Given the description of an element on the screen output the (x, y) to click on. 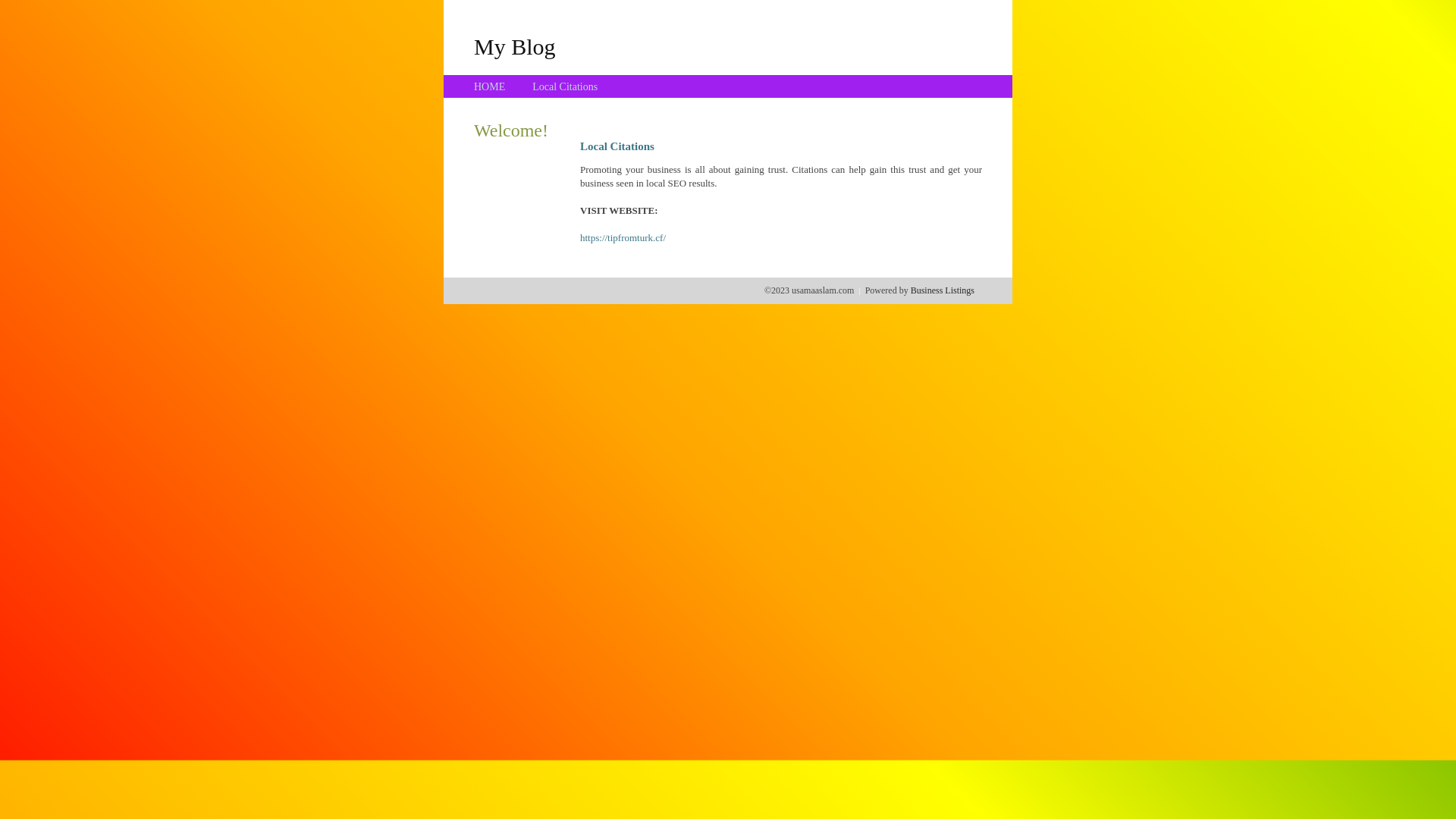
https://tipfromturk.cf/ Element type: text (622, 237)
HOME Element type: text (489, 86)
Business Listings Element type: text (942, 290)
My Blog Element type: text (514, 46)
Local Citations Element type: text (564, 86)
